Given the description of an element on the screen output the (x, y) to click on. 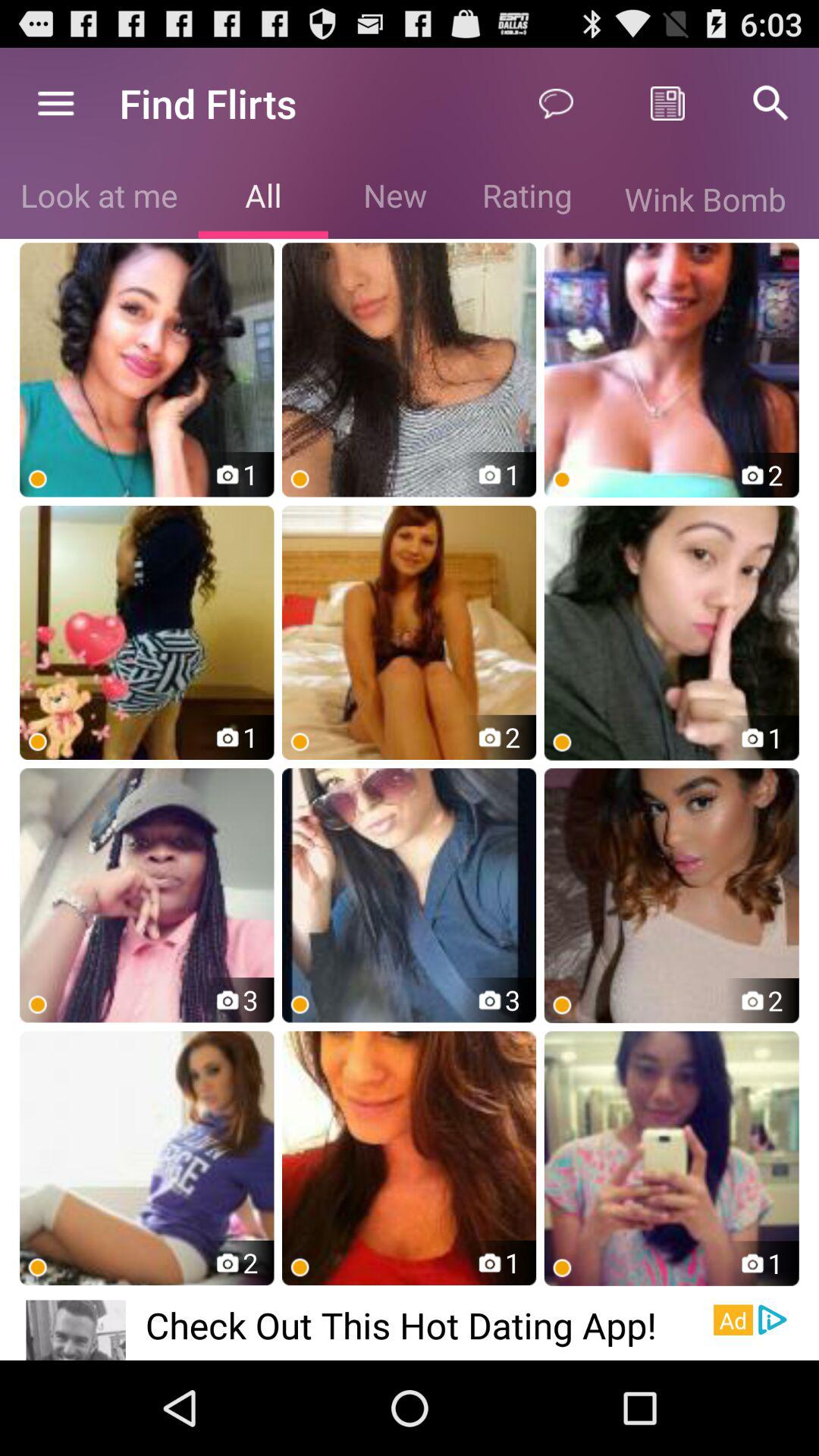
turn on icon next to new (527, 198)
